Given the description of an element on the screen output the (x, y) to click on. 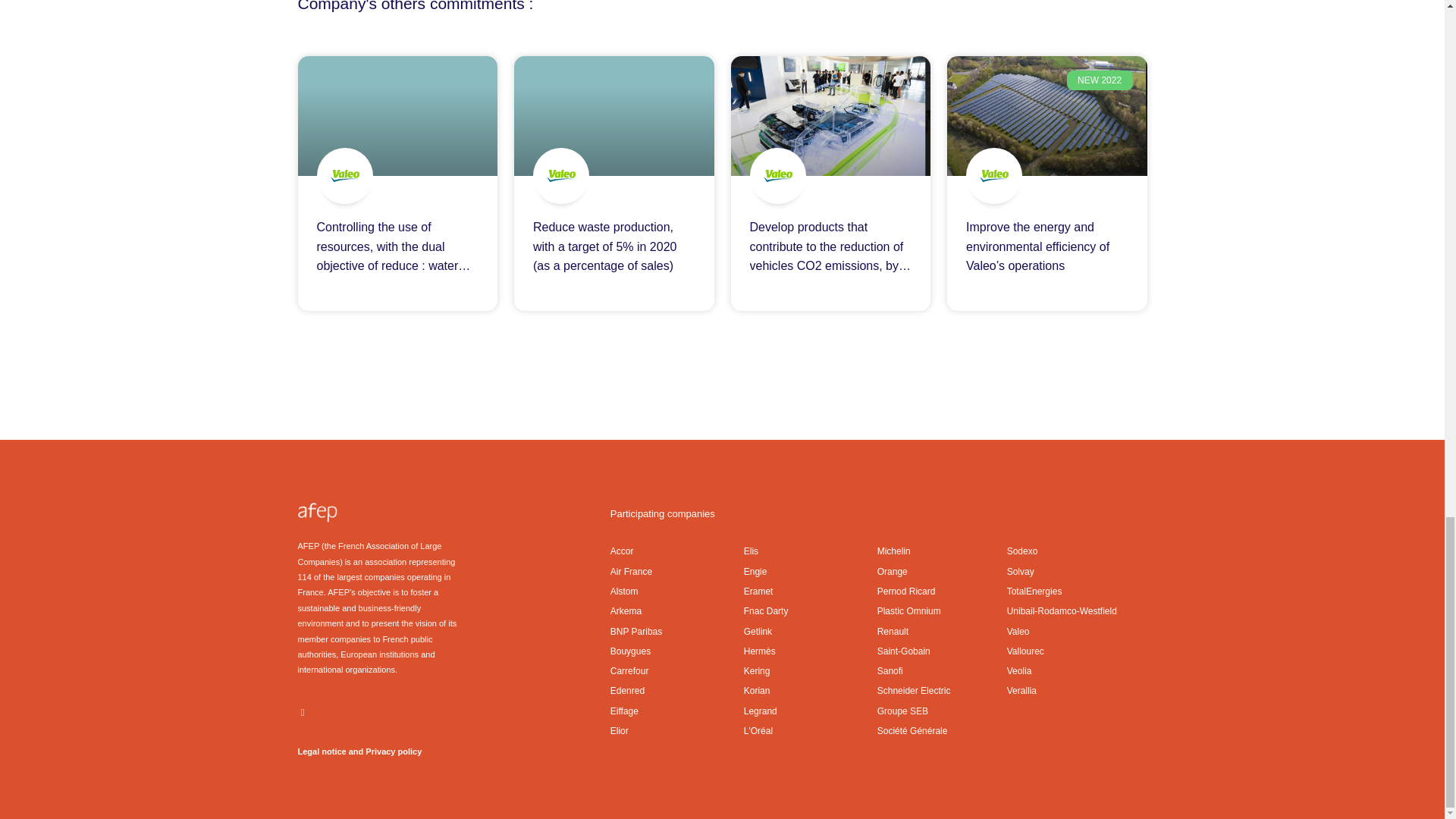
Alstom (677, 591)
Carrefour (677, 670)
Bouygues (677, 651)
Edenred (677, 690)
BNP Paribas (677, 631)
Accor (677, 550)
Arkema (677, 610)
Eiffage (677, 710)
Legal notice and Privacy policy (359, 750)
Air France (677, 571)
